Given the description of an element on the screen output the (x, y) to click on. 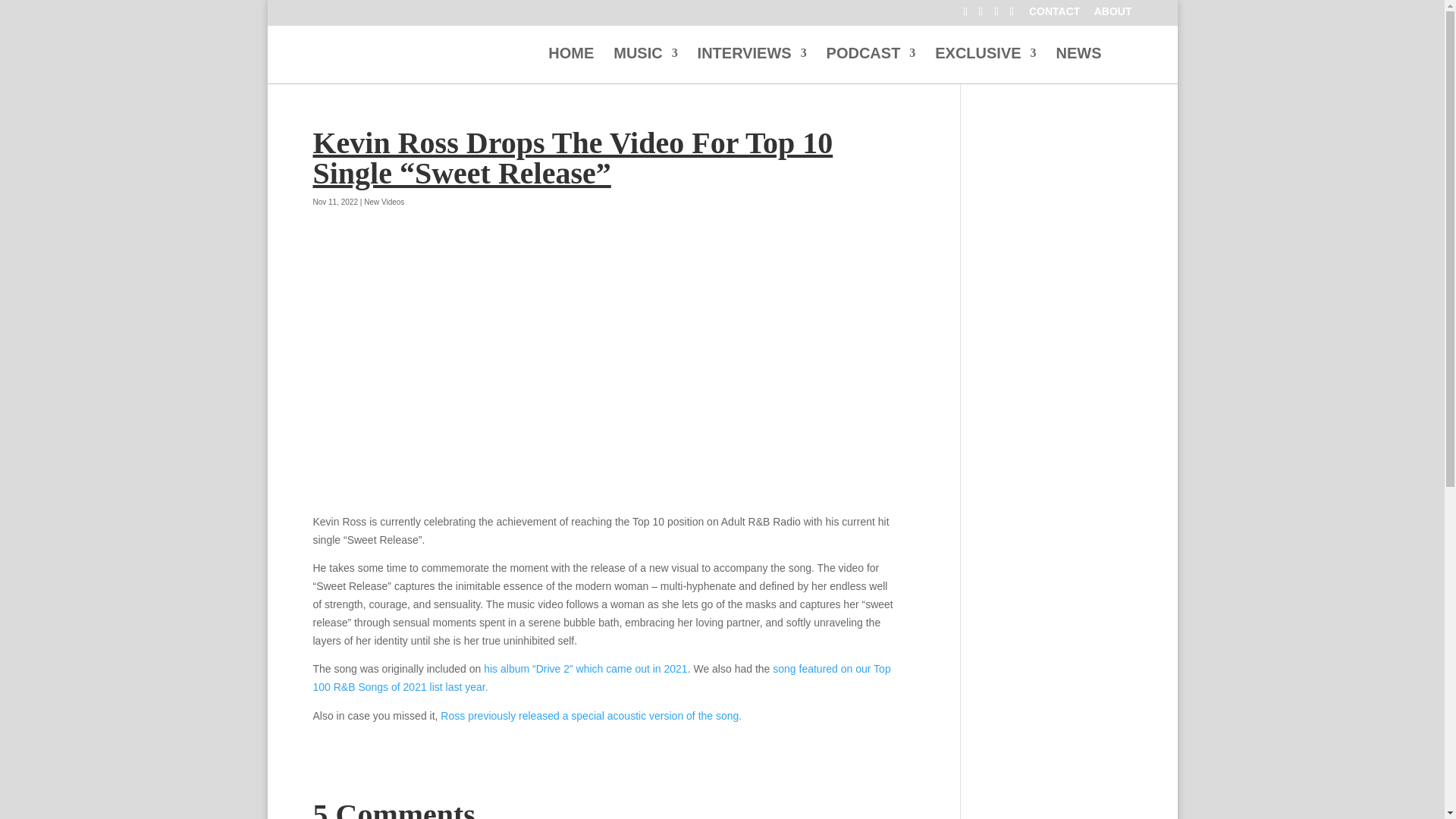
CONTACT (1054, 15)
INTERVIEWS (751, 65)
NEWS (1077, 65)
MUSIC (644, 65)
EXCLUSIVE (984, 65)
HOME (571, 65)
ABOUT (1113, 15)
YouTube video player (603, 376)
New Videos (384, 202)
